Given the description of an element on the screen output the (x, y) to click on. 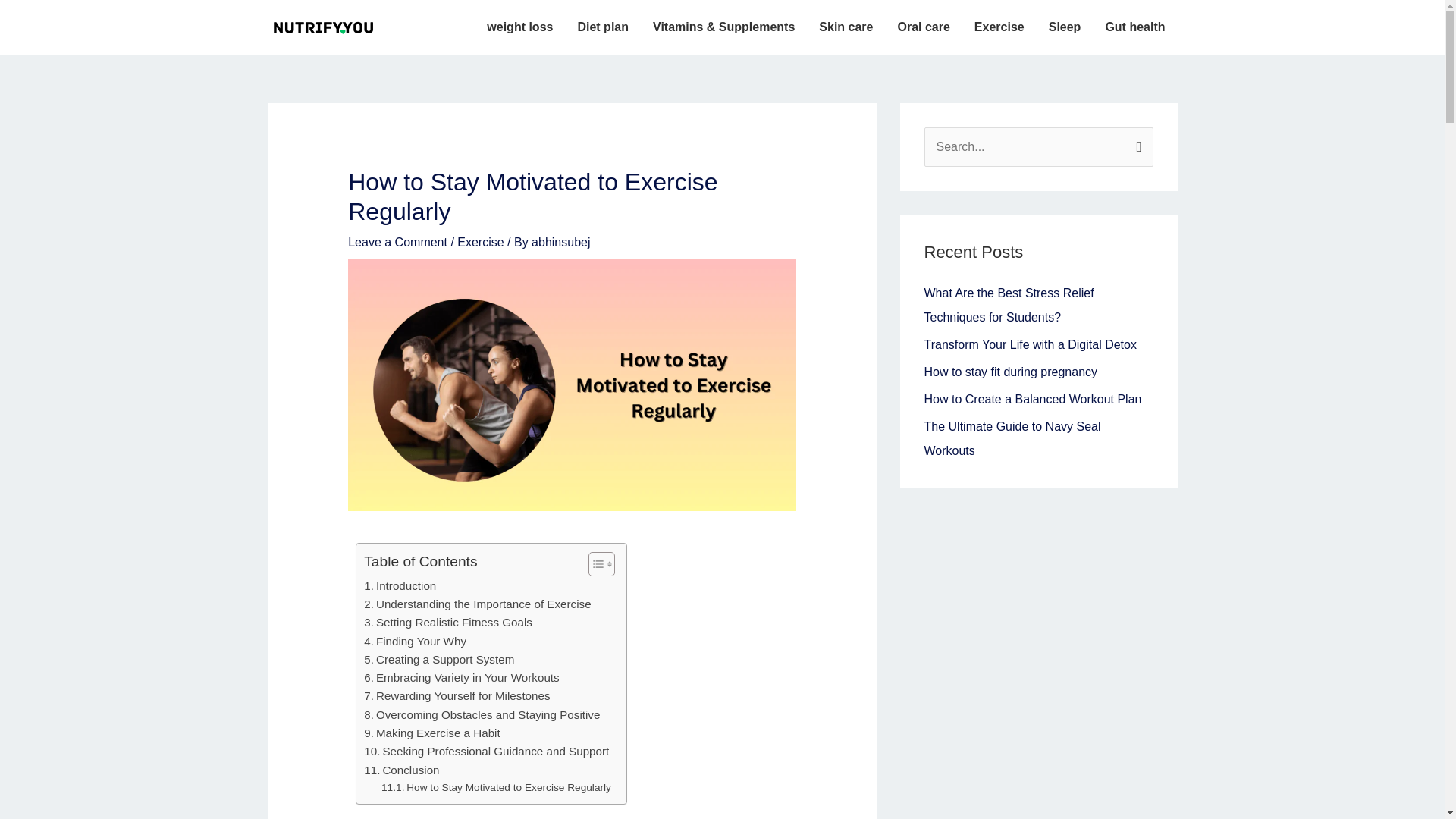
Introduction (399, 586)
Setting Realistic Fitness Goals (448, 622)
Making Exercise a Habit (431, 732)
Rewarding Yourself for Milestones (457, 696)
Search (1136, 142)
Creating a Support System (438, 659)
Understanding the Importance of Exercise (477, 604)
How to Stay Motivated to Exercise Regularly (496, 787)
Search (1136, 142)
Embracing Variety in Your Workouts (461, 678)
Conclusion (401, 770)
How to Stay Motivated to Exercise Regularly (496, 787)
Exercise (480, 241)
Seeking Professional Guidance and Support (486, 751)
Overcoming Obstacles and Staying Positive (481, 714)
